Given the description of an element on the screen output the (x, y) to click on. 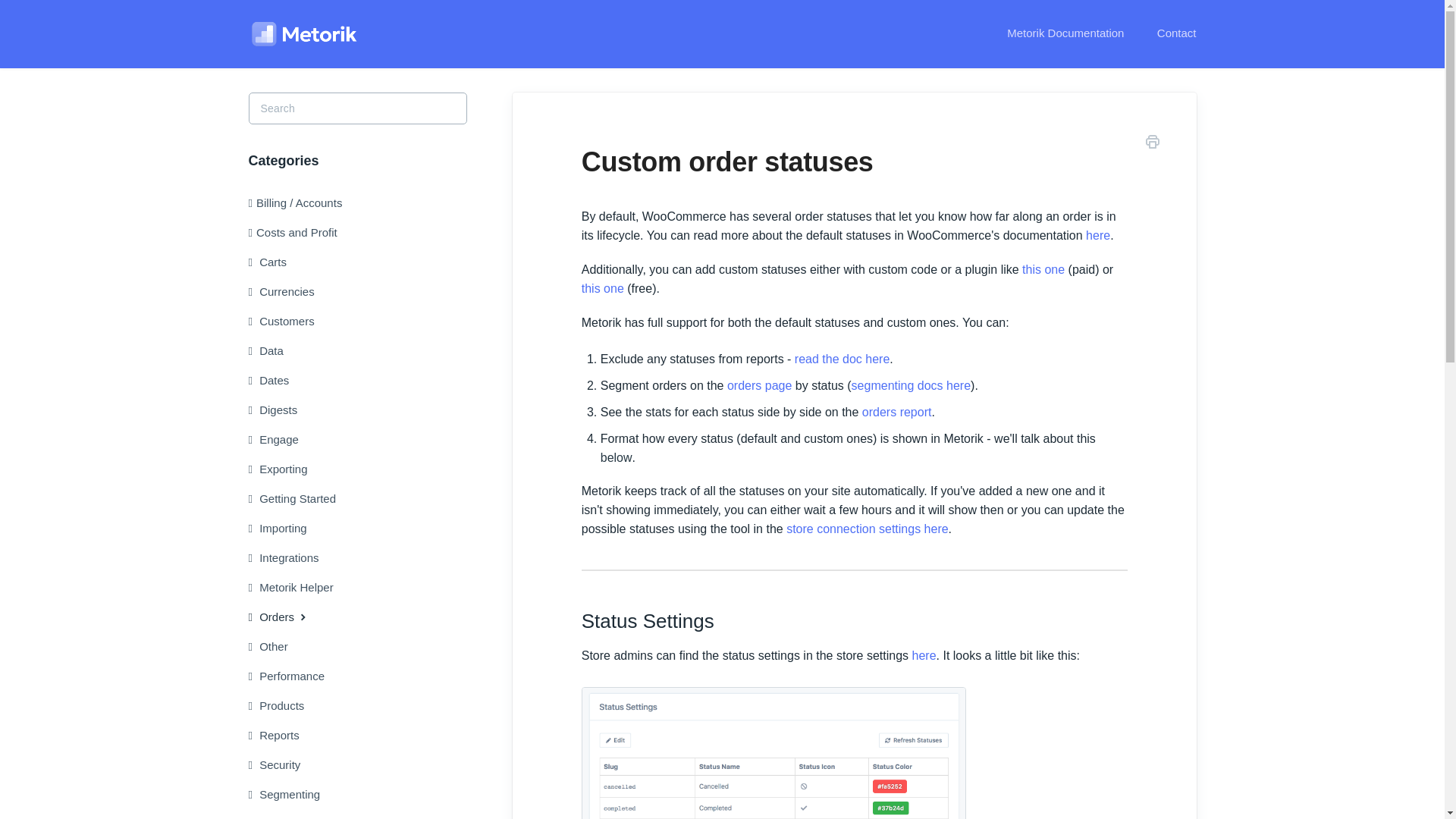
orders page (759, 385)
orders report (896, 411)
here (1097, 235)
Toggle Search (451, 108)
store connection settings here (866, 528)
Contact (1168, 33)
here (924, 655)
read the doc here (841, 358)
this one (1043, 269)
this one (602, 287)
search-query (357, 108)
Metorik Documentation (1064, 33)
Print this article (1151, 144)
segmenting docs here (911, 385)
